Given the description of an element on the screen output the (x, y) to click on. 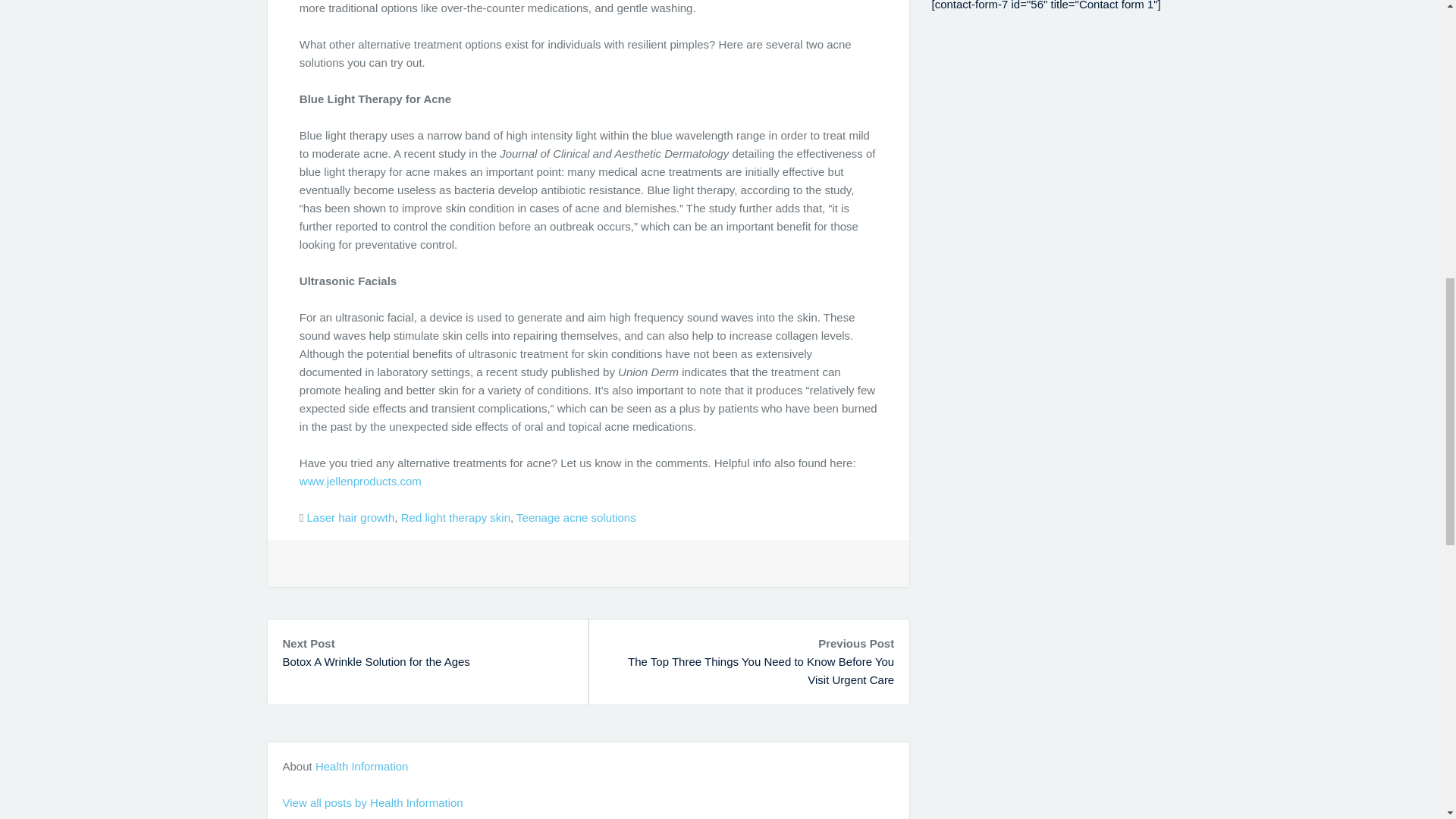
Laser hair growth (349, 517)
www.jellenproducts.com (360, 481)
Teenage acne solutions (576, 517)
Health Information (362, 766)
Red light therapy skin (456, 517)
Botox A Wrinkle Solution for the Ages (375, 661)
View all posts by Health Information (372, 802)
The best link (360, 481)
